Given the description of an element on the screen output the (x, y) to click on. 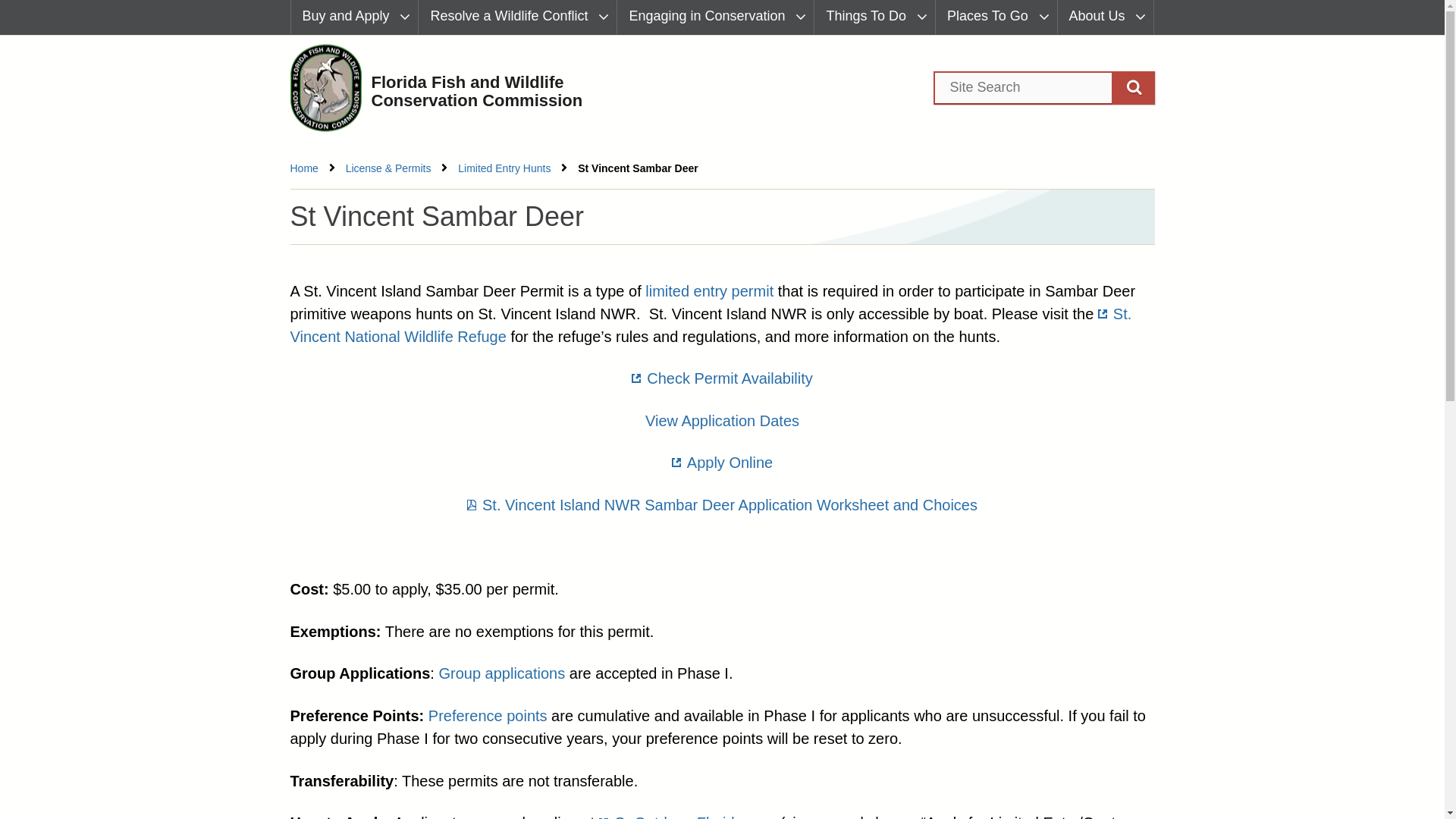
Preference (487, 715)
Apply (722, 420)
Limited Entry (709, 290)
Sambar Deer (721, 504)
Group Applications (501, 673)
